Given the description of an element on the screen output the (x, y) to click on. 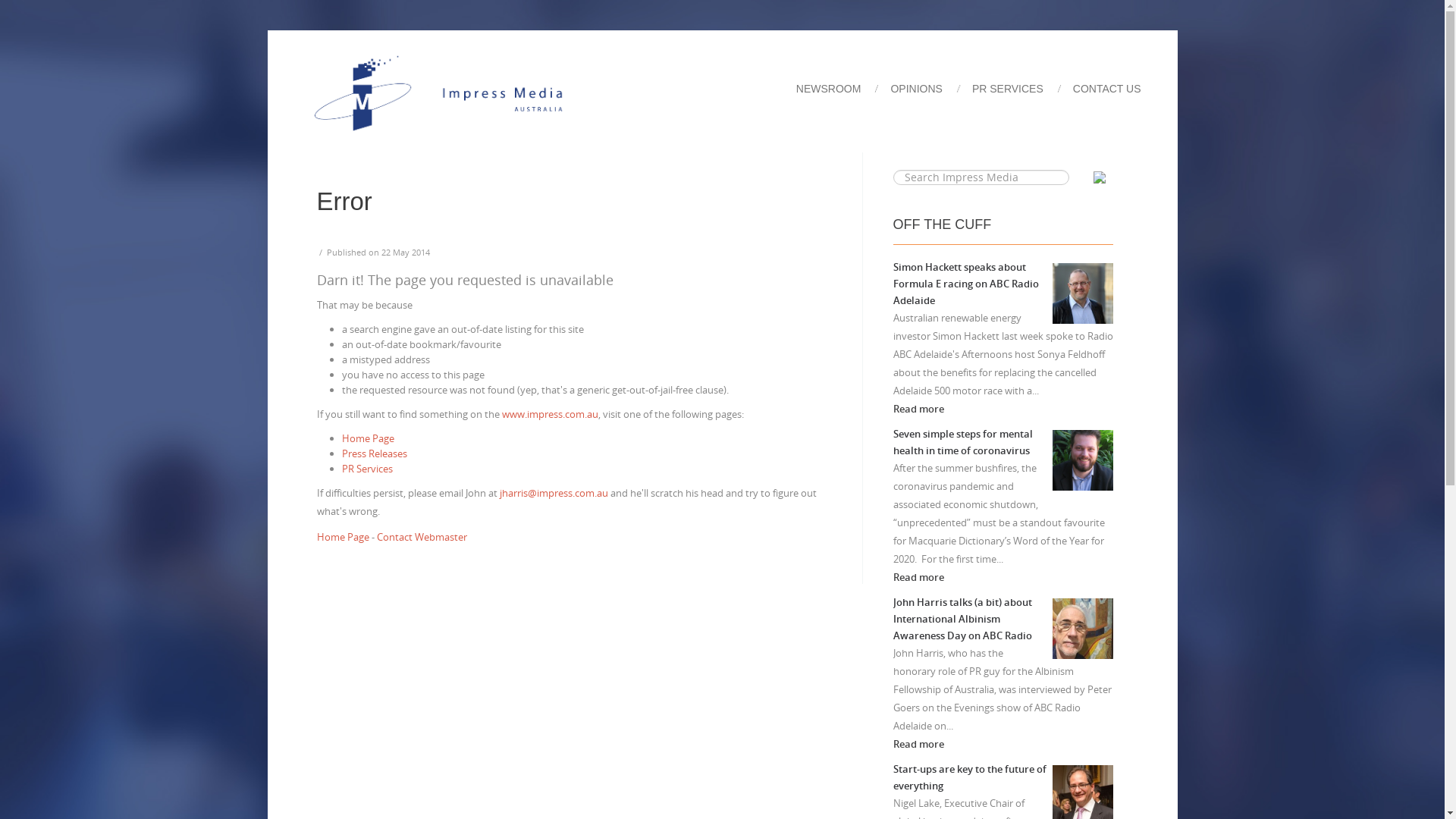
Seven simple steps for mental health in time of coronavirus Element type: text (962, 441)
OPINIONS Element type: text (926, 88)
Start-ups are key to the future of everything Element type: text (969, 777)
NEWSROOM Element type: text (839, 88)
Read more Element type: text (918, 743)
Read more Element type: text (918, 576)
jharris@impress.com.au Element type: text (552, 492)
CONTACT US Element type: text (1108, 88)
Read more Element type: text (918, 408)
Contact Webmaster Element type: text (421, 536)
Press Releases Element type: text (373, 453)
Home Page Element type: text (367, 438)
www.impress.com.au Element type: text (550, 413)
Home Page Element type: text (342, 536)
PR Services Element type: text (366, 468)
PR SERVICES Element type: text (1018, 88)
